Given the description of an element on the screen output the (x, y) to click on. 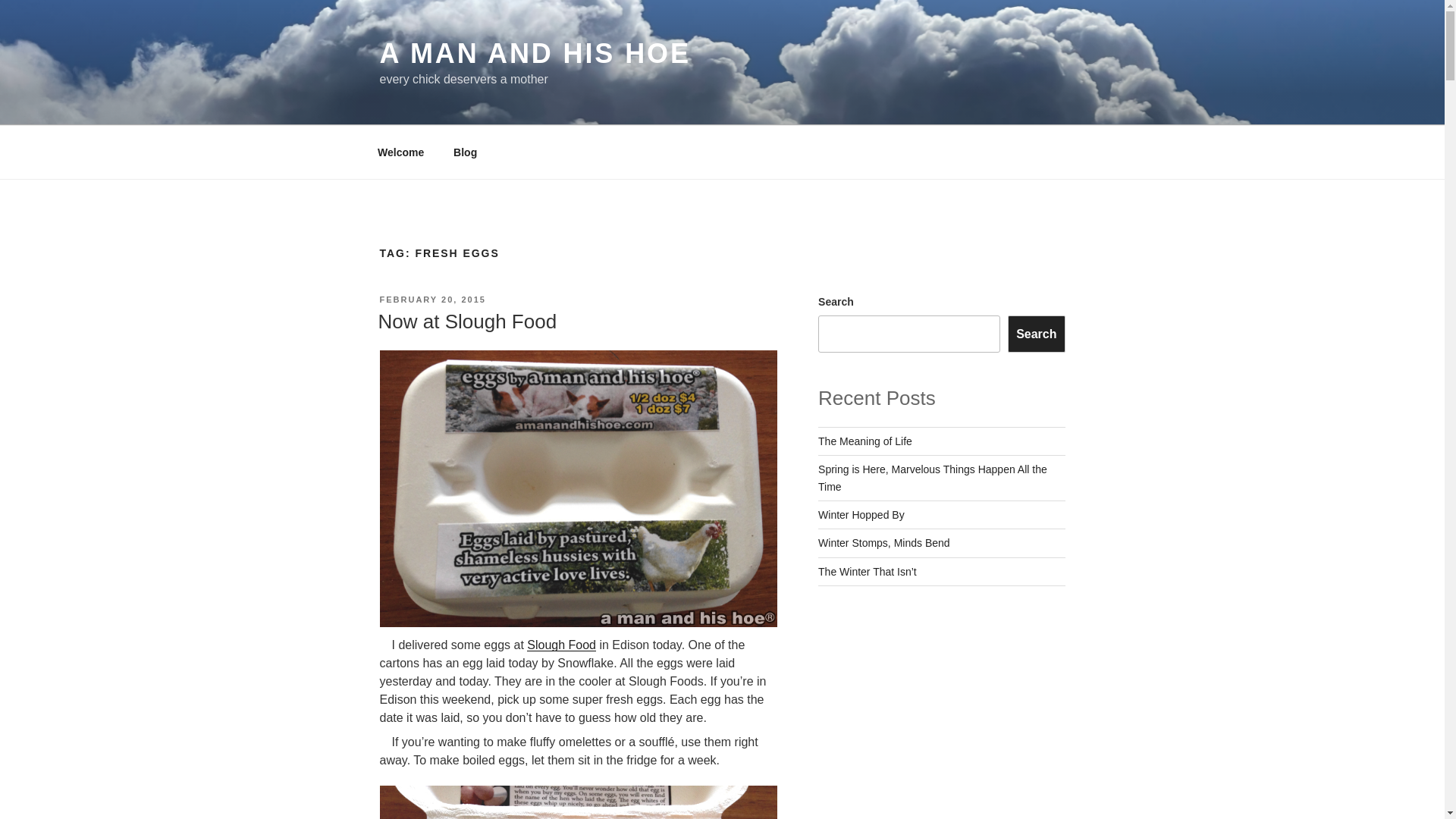
Now at Slough Food (466, 321)
The Meaning of Life (865, 440)
Winter Stomps, Minds Bend (884, 542)
FEBRUARY 20, 2015 (431, 298)
Spring is Here, Marvelous Things Happen All the Time (932, 477)
A MAN AND HIS HOE (534, 52)
Search (1035, 333)
Welcome (400, 151)
Blog (465, 151)
Slough Food (561, 644)
